Given the description of an element on the screen output the (x, y) to click on. 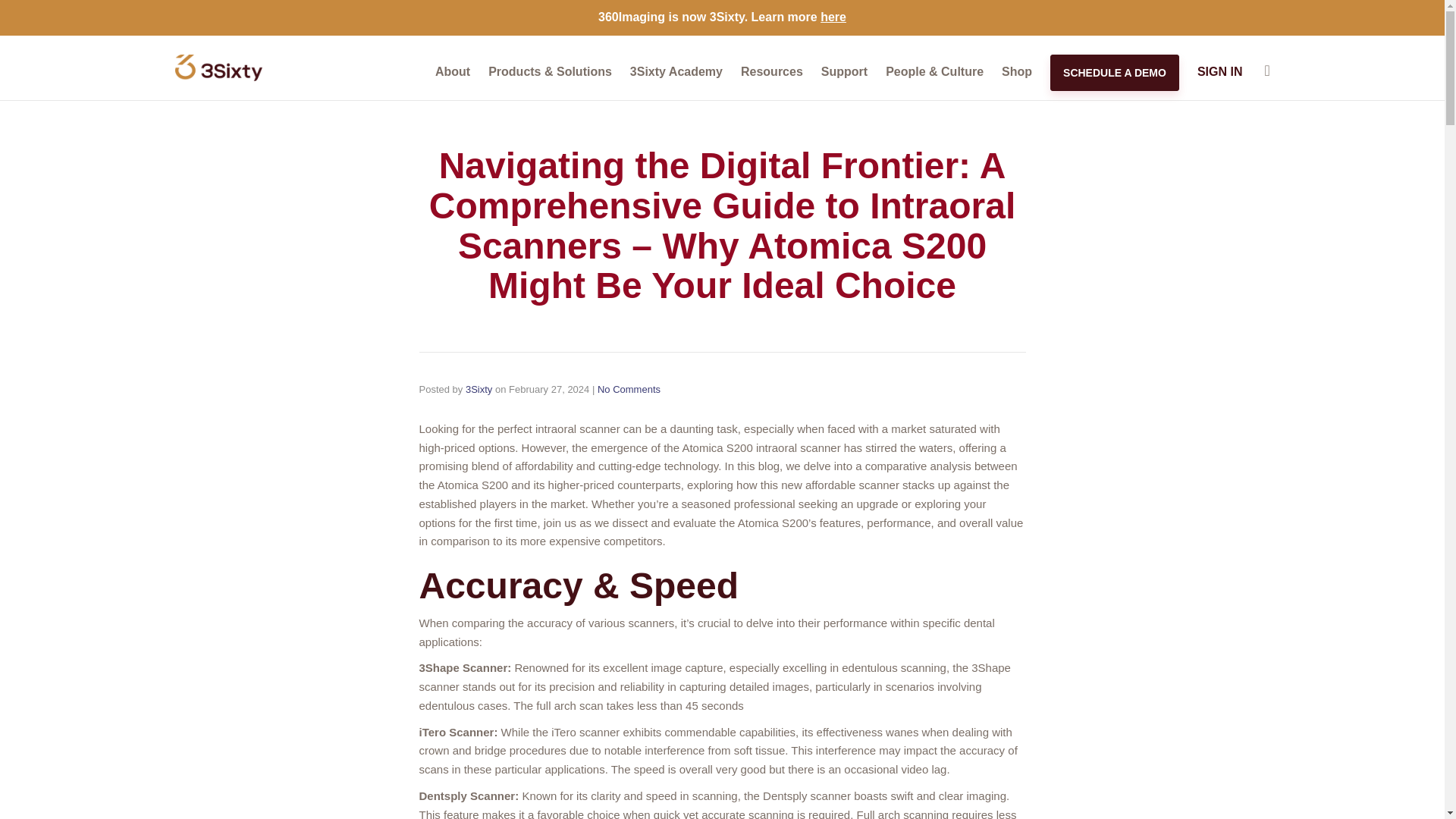
SIGN IN (1219, 71)
3Sixty (478, 389)
360Imaging is now 3Sixty. Learn more here (721, 16)
Posts by 3Sixty (478, 389)
Support (844, 71)
Resources (772, 71)
No Comments (628, 389)
About (452, 71)
SCHEDULE A DEMO (1114, 72)
3Sixty Academy (676, 71)
